Given the description of an element on the screen output the (x, y) to click on. 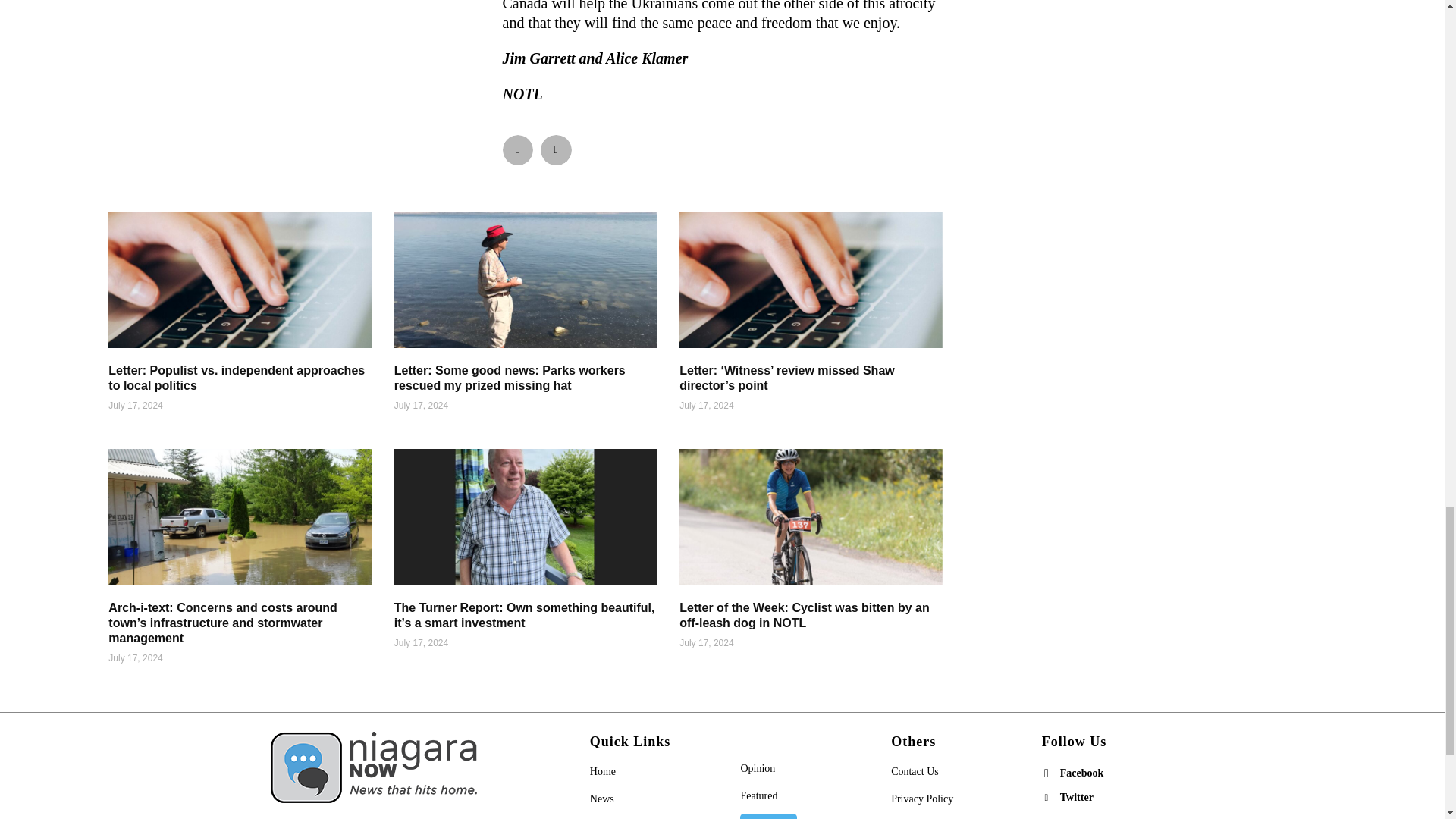
Facebook (1045, 773)
Twitter (1045, 797)
